Given the description of an element on the screen output the (x, y) to click on. 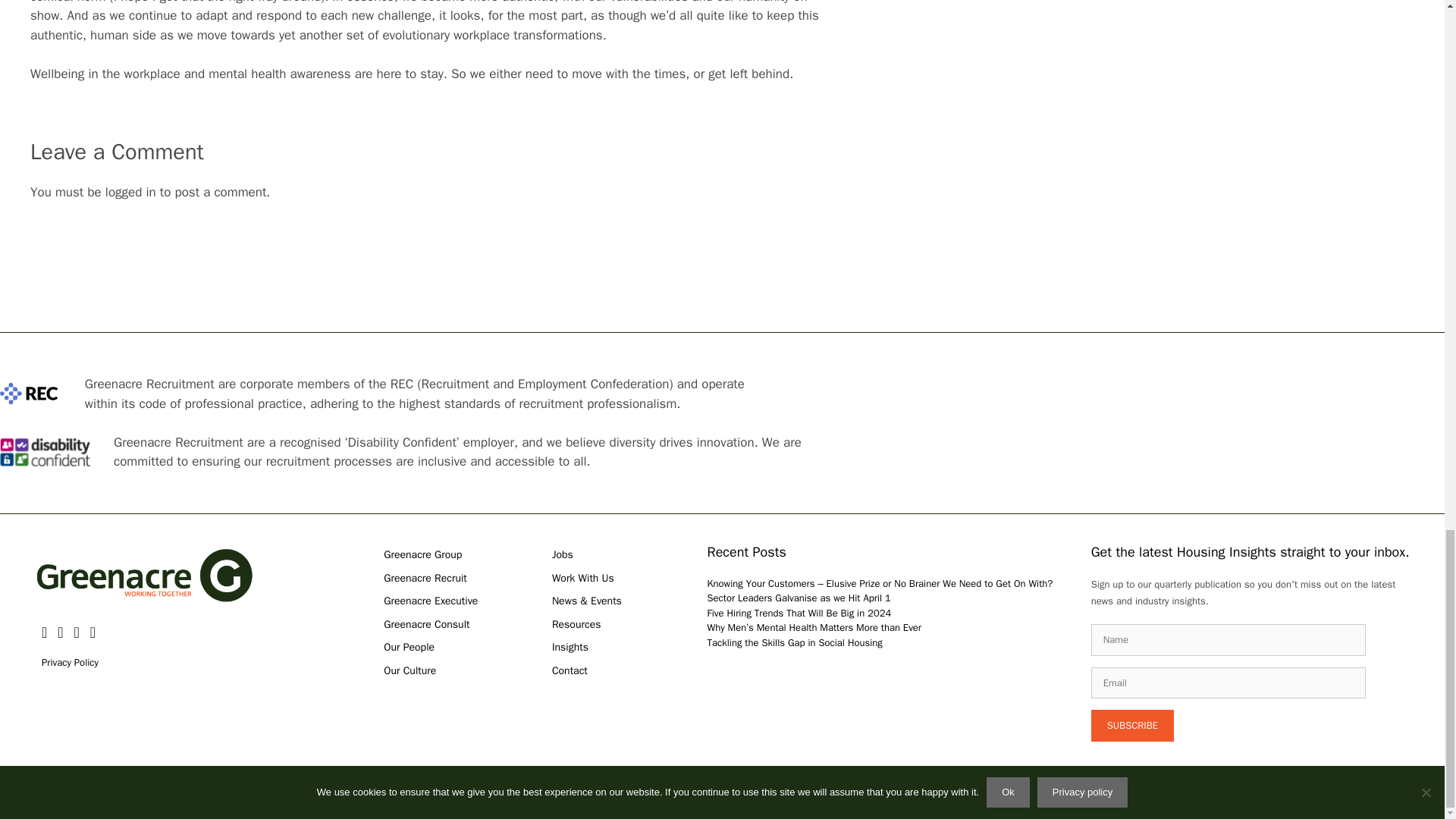
Scroll back to top (1406, 11)
logged in (129, 191)
Privacy Policy (70, 662)
Greenacre Group (422, 554)
Greenacre Recruit (425, 577)
